Given the description of an element on the screen output the (x, y) to click on. 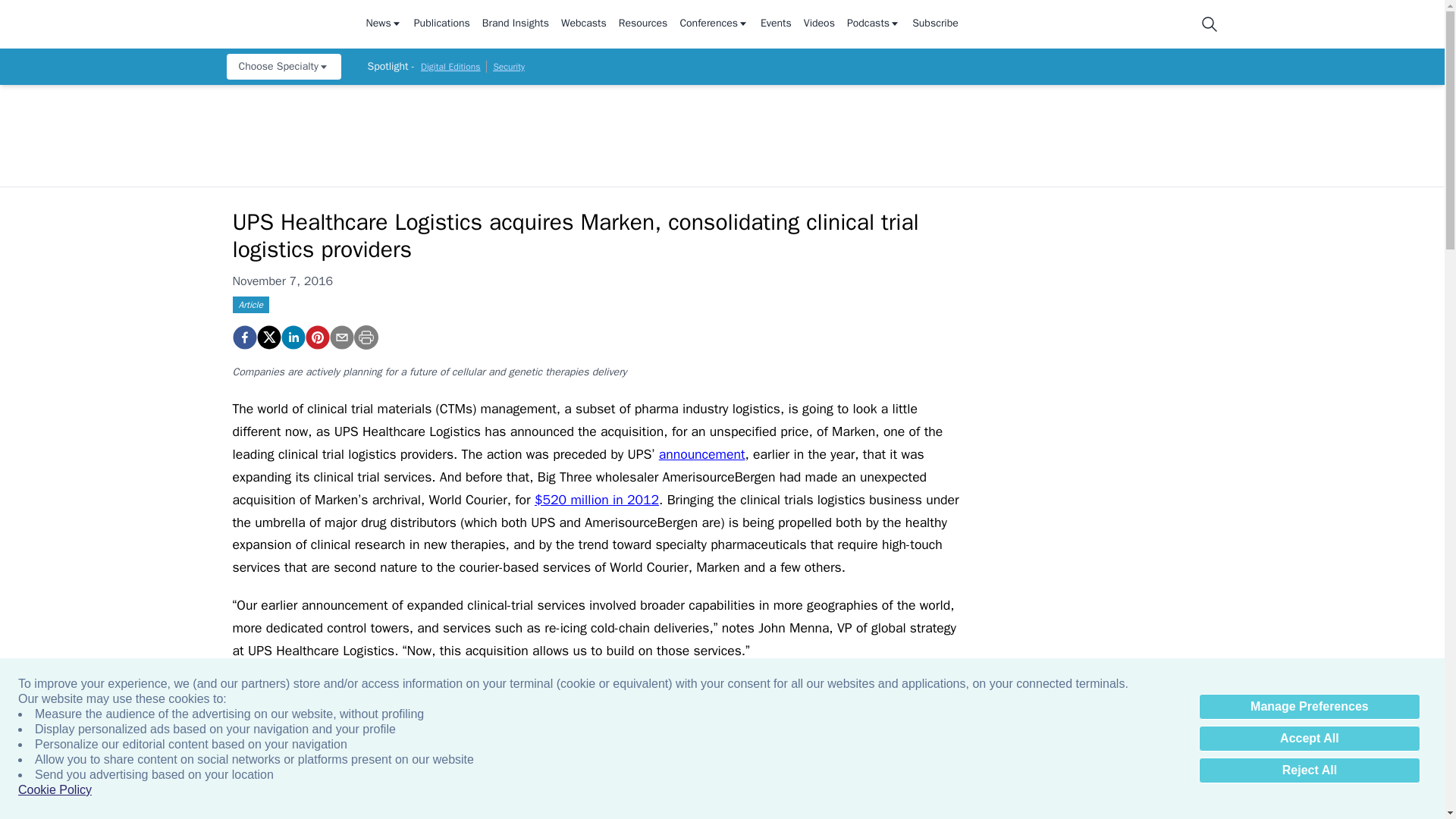
News (383, 23)
Subscribe (935, 23)
Podcasts (873, 23)
Brand Insights (514, 23)
Cookie Policy (54, 789)
Conferences (713, 23)
Videos (818, 23)
Reject All (1309, 769)
Events (776, 23)
Choose Specialty (282, 66)
Webcasts (583, 23)
Resources (643, 23)
Accept All (1309, 738)
